Given the description of an element on the screen output the (x, y) to click on. 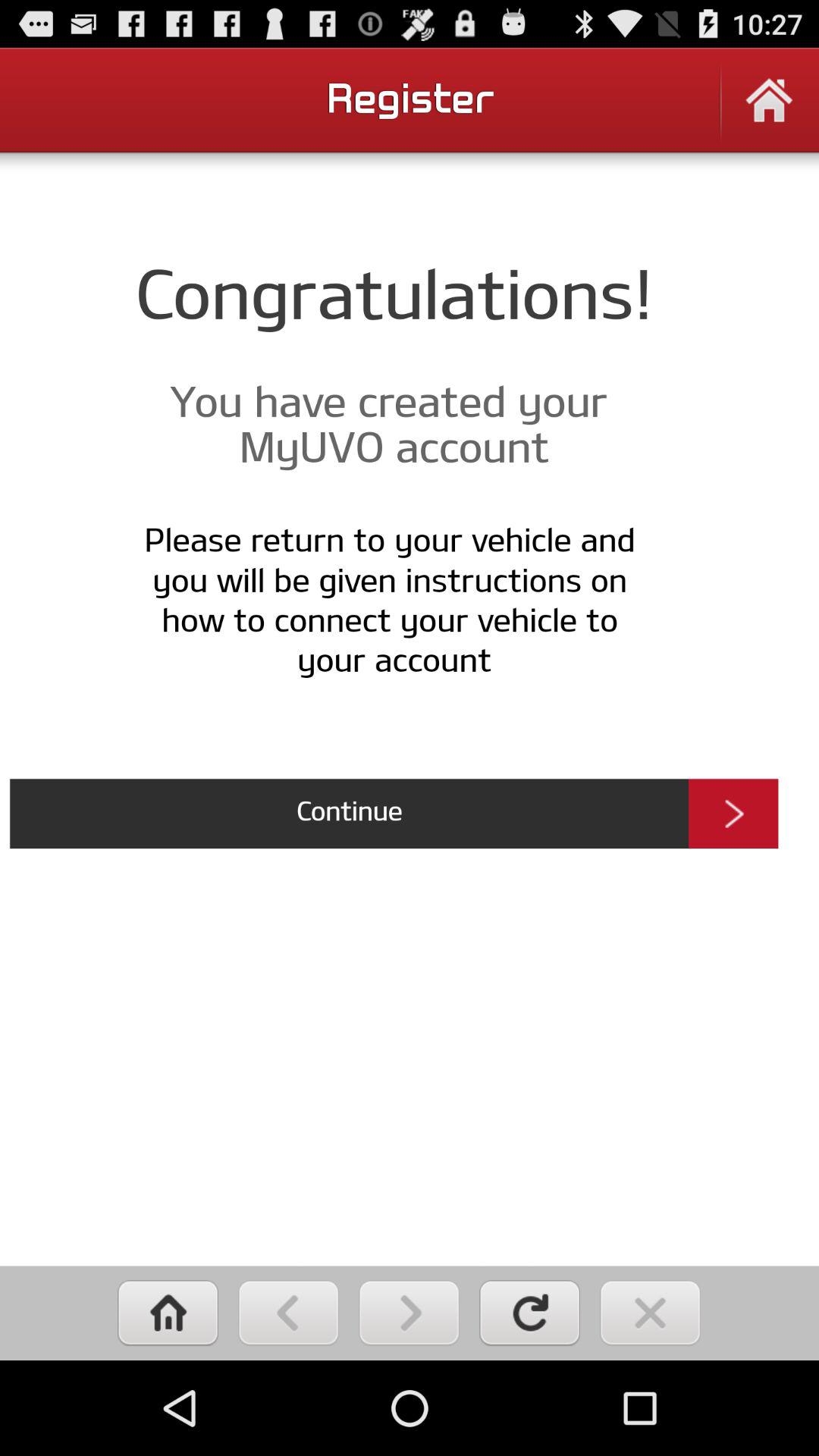
return to the home screen (167, 1313)
